Given the description of an element on the screen output the (x, y) to click on. 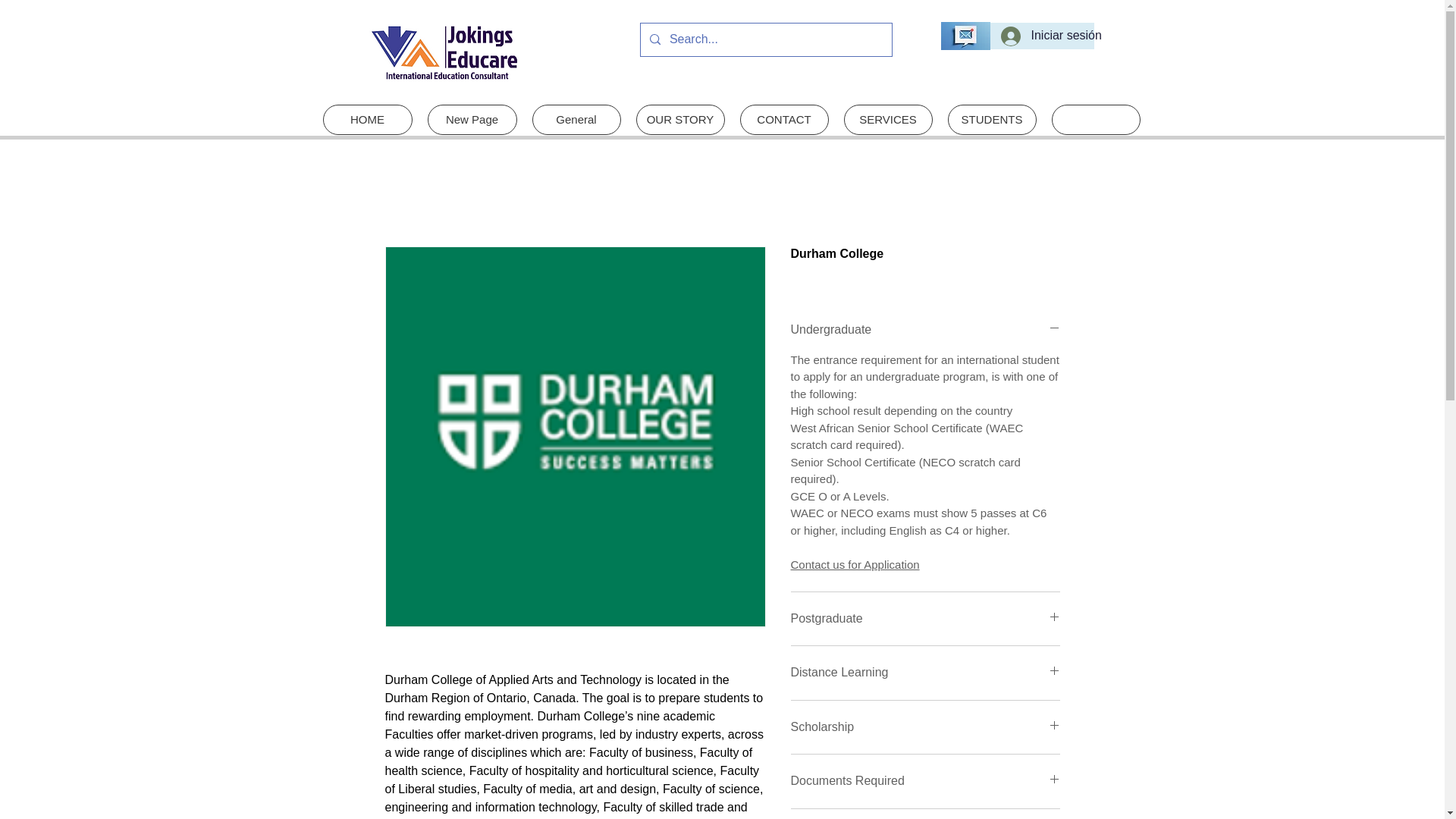
INVOICE Logo.jpg (443, 52)
SERVICES (887, 119)
CONTACT (783, 119)
OUR STORY (678, 119)
HOME (367, 119)
General (576, 119)
New Page (472, 119)
STUDENTS (991, 119)
